Given the description of an element on the screen output the (x, y) to click on. 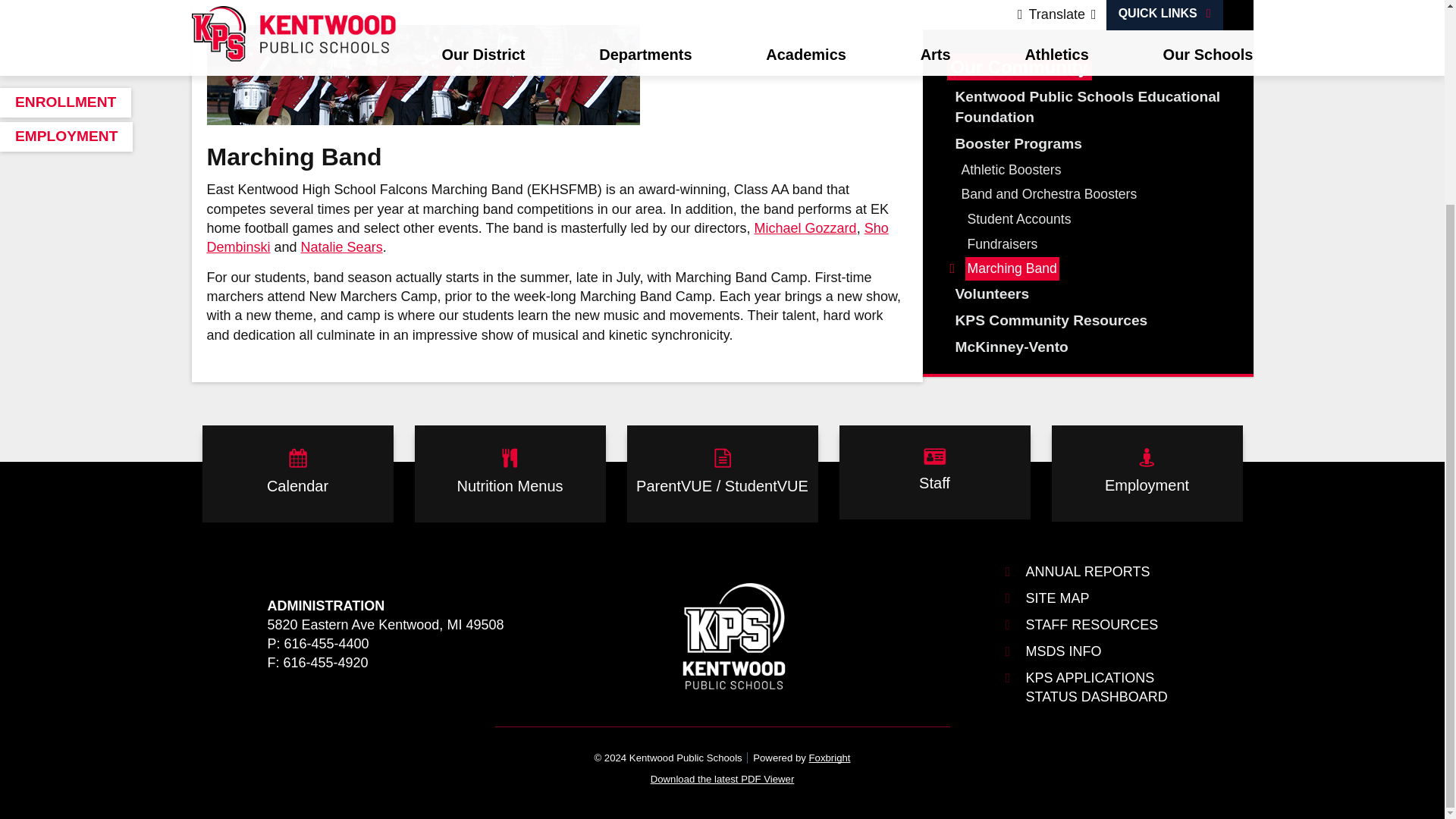
Featuring New Uniforms (422, 75)
